Given the description of an element on the screen output the (x, y) to click on. 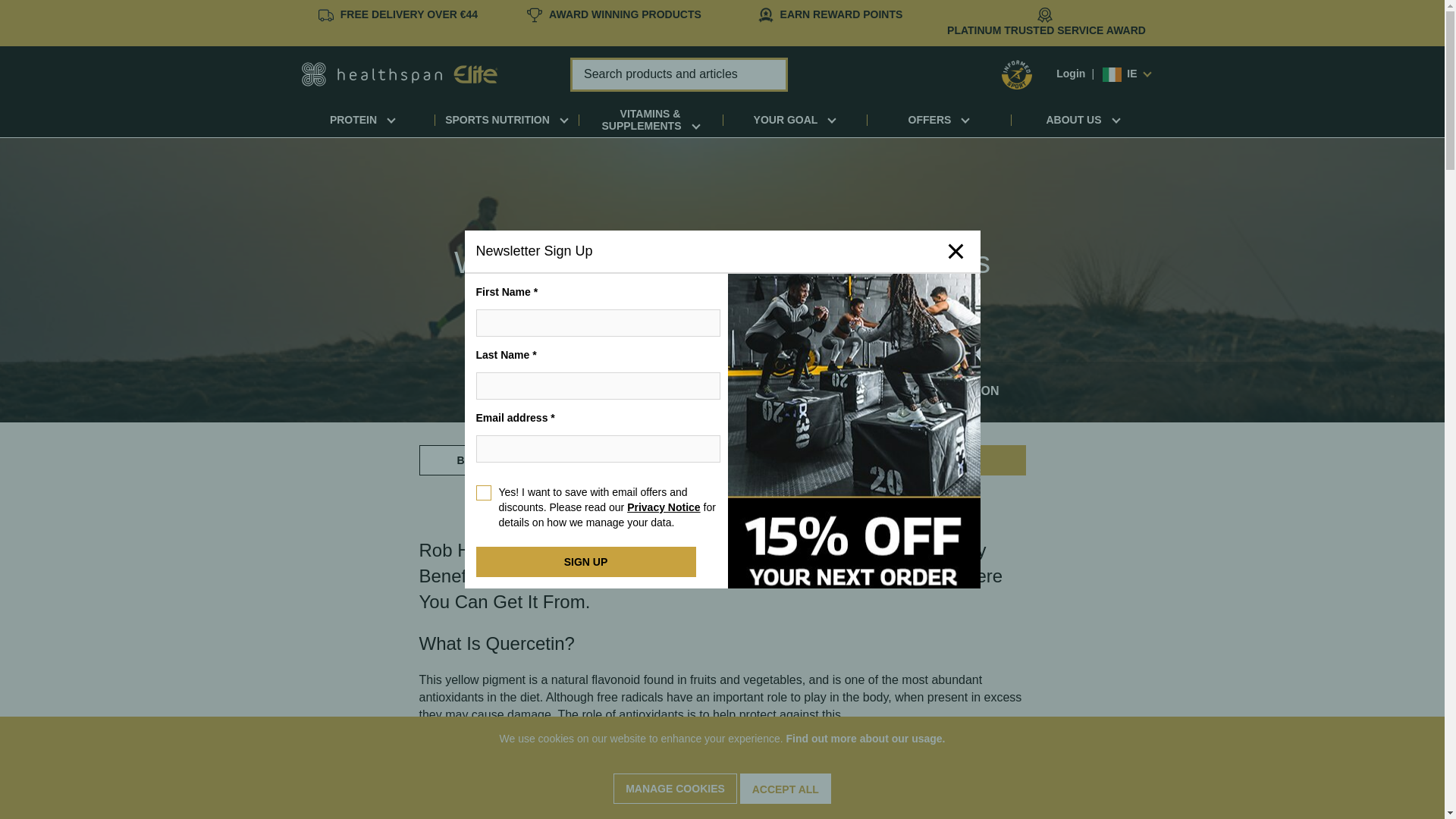
Reward points (841, 14)
Search products and articles (678, 74)
Privacy Notice (663, 507)
Sign Up (585, 562)
Informed Sport (1016, 73)
Close (955, 251)
Healthspan (399, 73)
Login (1070, 73)
Sign Up (585, 562)
Official Partners (624, 14)
